Given the description of an element on the screen output the (x, y) to click on. 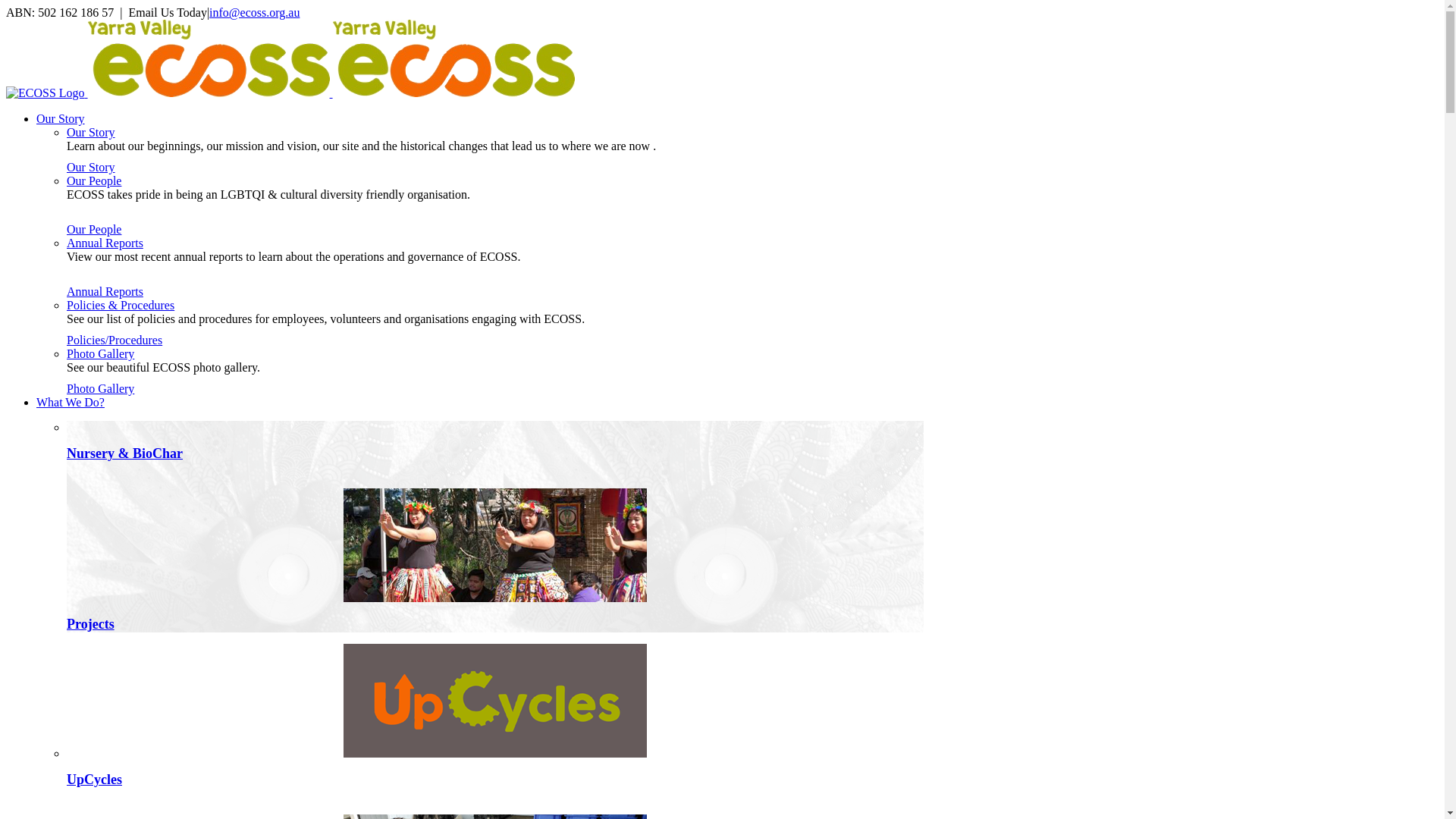
Skip to content Element type: text (5, 5)
What We Do? Element type: text (70, 401)
Annual Reports Element type: text (104, 291)
Policies & Procedures Element type: text (120, 304)
Photo Gallery Element type: text (100, 353)
Our Story Element type: text (60, 118)
Our Story Element type: text (90, 166)
Our People Element type: text (93, 180)
UpCycles Element type: text (94, 779)
Projects Element type: text (90, 623)
Policies/Procedures Element type: text (114, 339)
Photo Gallery Element type: text (100, 388)
Annual Reports Element type: text (104, 242)
Our Story Element type: text (90, 131)
Nursery & BioChar Element type: text (124, 453)
Our People Element type: text (93, 228)
info@ecoss.org.au Element type: text (254, 12)
